Given the description of an element on the screen output the (x, y) to click on. 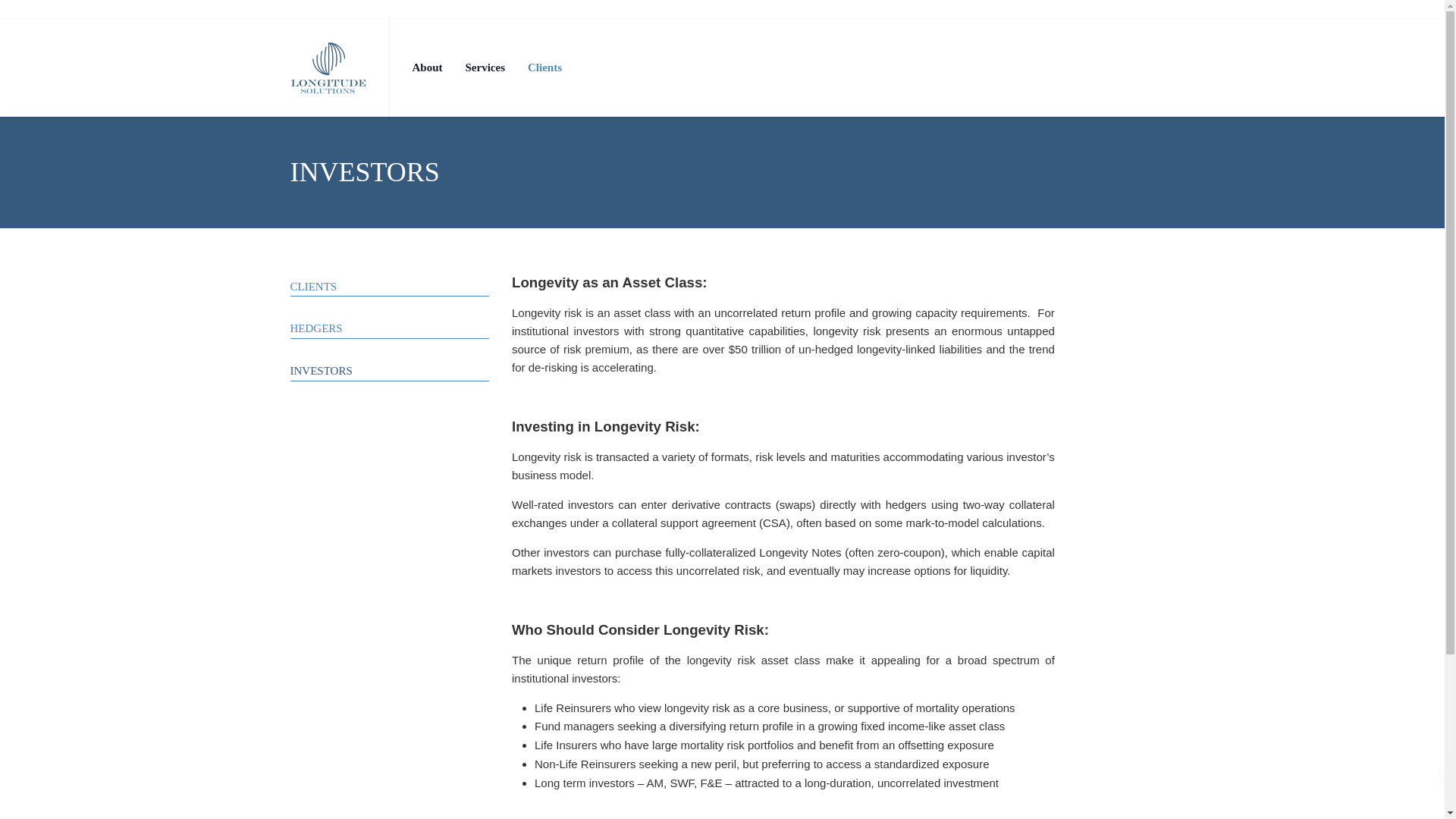
About (427, 67)
Services (485, 67)
